Given the description of an element on the screen output the (x, y) to click on. 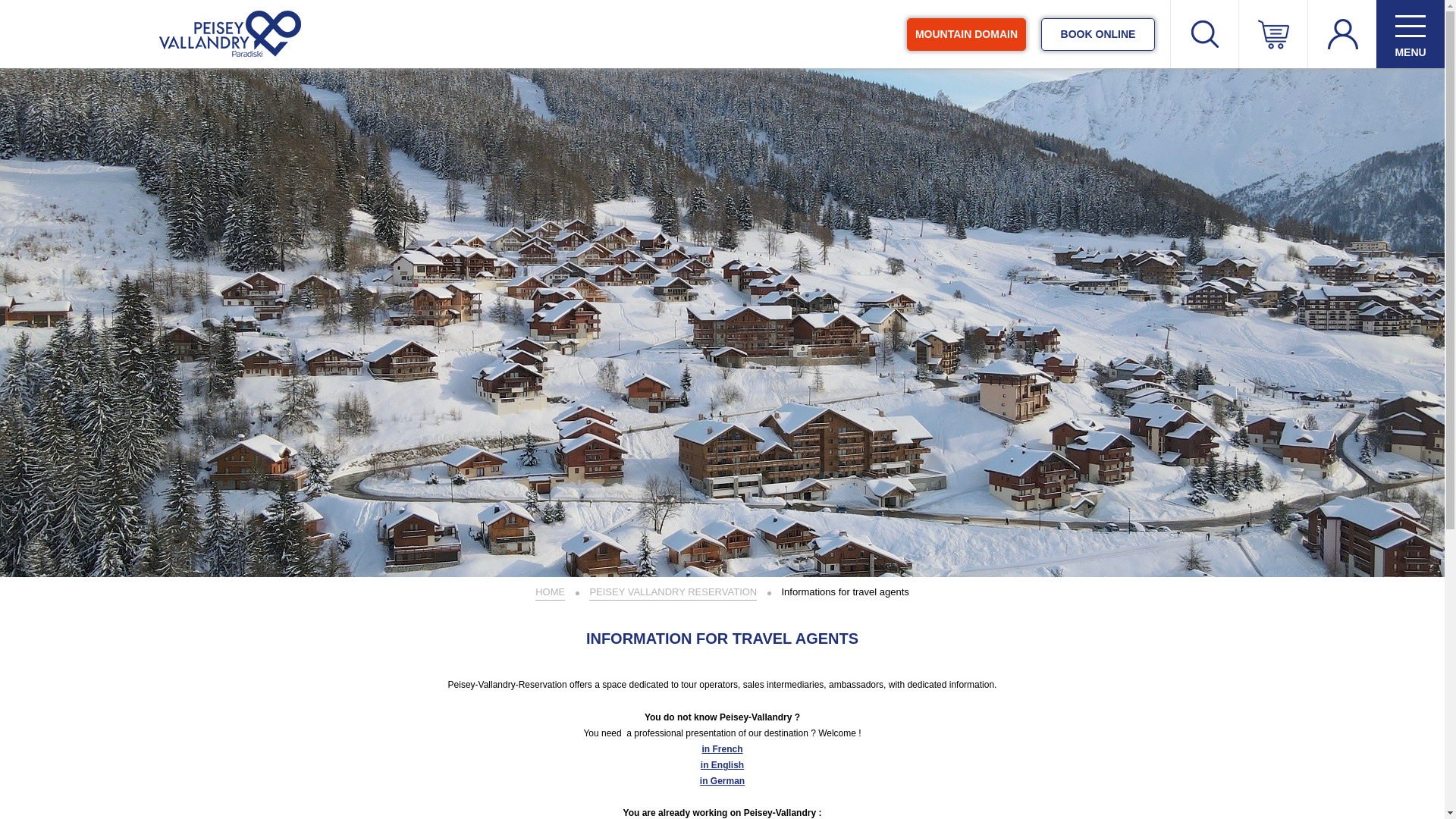
Connection (1339, 123)
MOUNTAIN DOMAIN (966, 34)
Back to the homepage (229, 33)
